Given the description of an element on the screen output the (x, y) to click on. 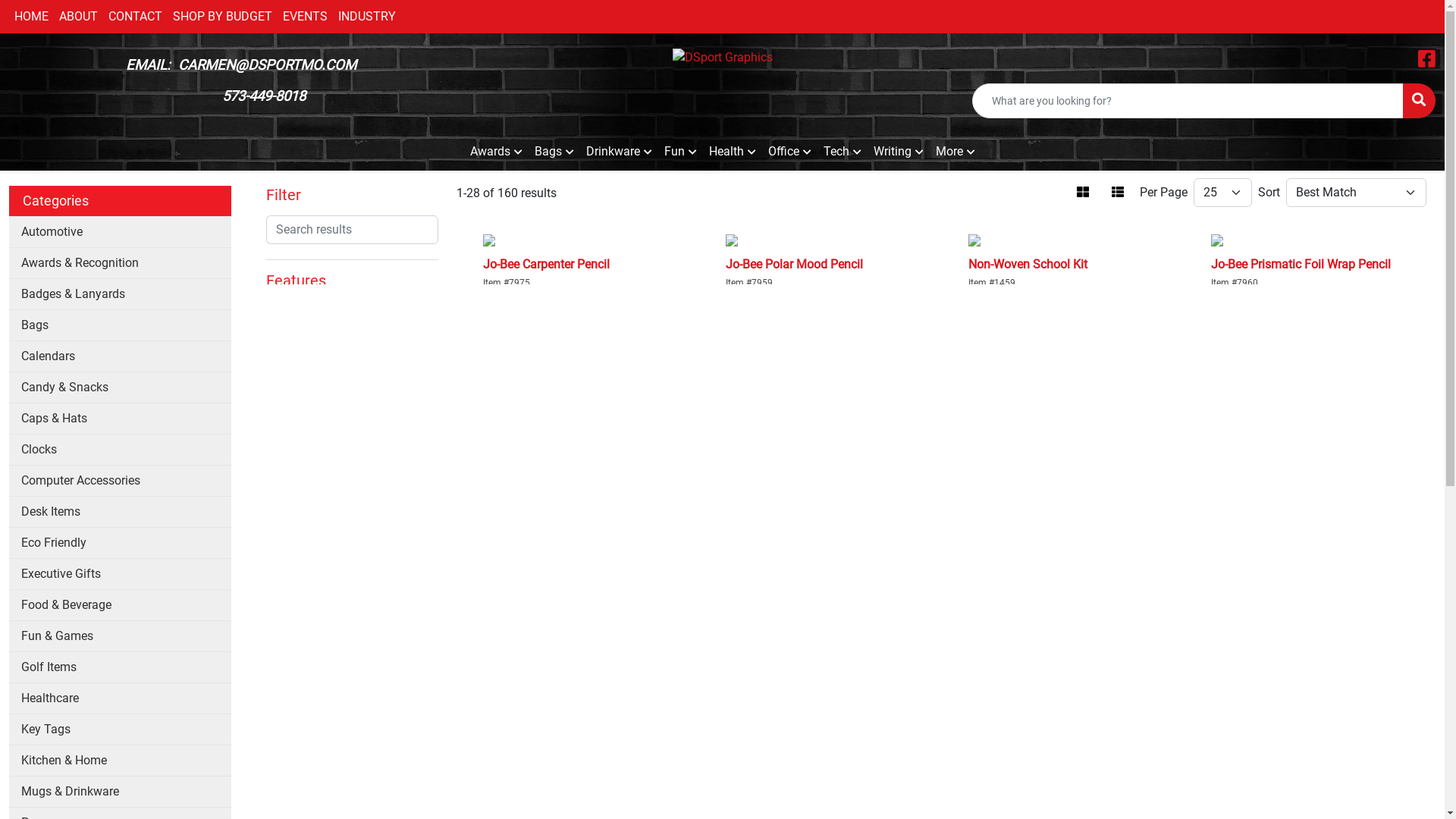
Drinkware Element type: text (618, 151)
Badges & Lanyards Element type: text (120, 293)
More Element type: text (955, 151)
Computer Accessories Element type: text (120, 479)
Caps & Hats Element type: text (120, 417)
Fun & Games Element type: text (120, 635)
Fun Element type: text (680, 151)
Executive Gifts Element type: text (120, 573)
Awards & Recognition Element type: text (120, 262)
Writing Element type: text (898, 151)
Health Element type: text (731, 151)
INDUSTRY Element type: text (366, 16)
Healthcare Element type: text (120, 697)
Bags Element type: text (120, 324)
Automotive Element type: text (120, 231)
Golf Items Element type: text (120, 666)
Visit us on Facebook Element type: hover (1426, 61)
Food & Beverage Element type: text (120, 604)
Tech Element type: text (842, 151)
Desk Items Element type: text (120, 511)
CONTACT Element type: text (135, 16)
ABOUT Element type: text (78, 16)
subpage Element type: hover (842, 227)
HOME Element type: text (31, 16)
Clocks Element type: text (120, 448)
Kitchen & Home Element type: text (120, 759)
EVENTS Element type: text (304, 16)
Awards Element type: text (496, 151)
Key Tags Element type: text (120, 728)
Candy & Snacks Element type: text (120, 386)
Bags Element type: text (553, 151)
Calendars Element type: text (120, 355)
SHOP BY BUDGET Element type: text (222, 16)
Office Element type: text (788, 151)
Mugs & Drinkware Element type: text (120, 790)
Eco Friendly Element type: text (120, 542)
